Given the description of an element on the screen output the (x, y) to click on. 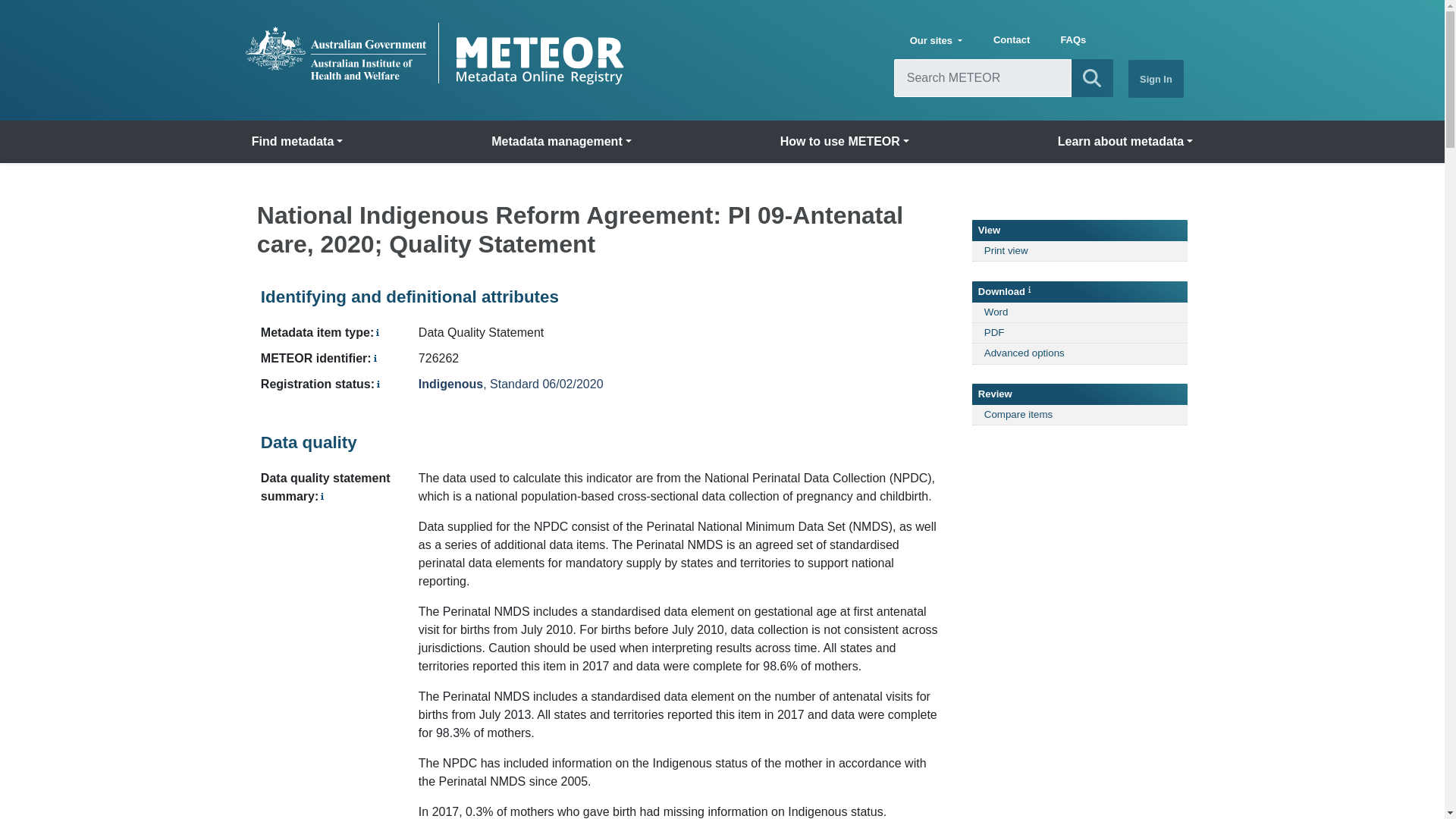
Our sites (935, 40)
How to use METEOR (844, 141)
Learn about metadata (1124, 141)
Find metadata (297, 141)
Metadata management (560, 141)
Search METEOR (1092, 77)
FAQs (1072, 40)
Contact (1011, 40)
Sign In (1155, 78)
